Given the description of an element on the screen output the (x, y) to click on. 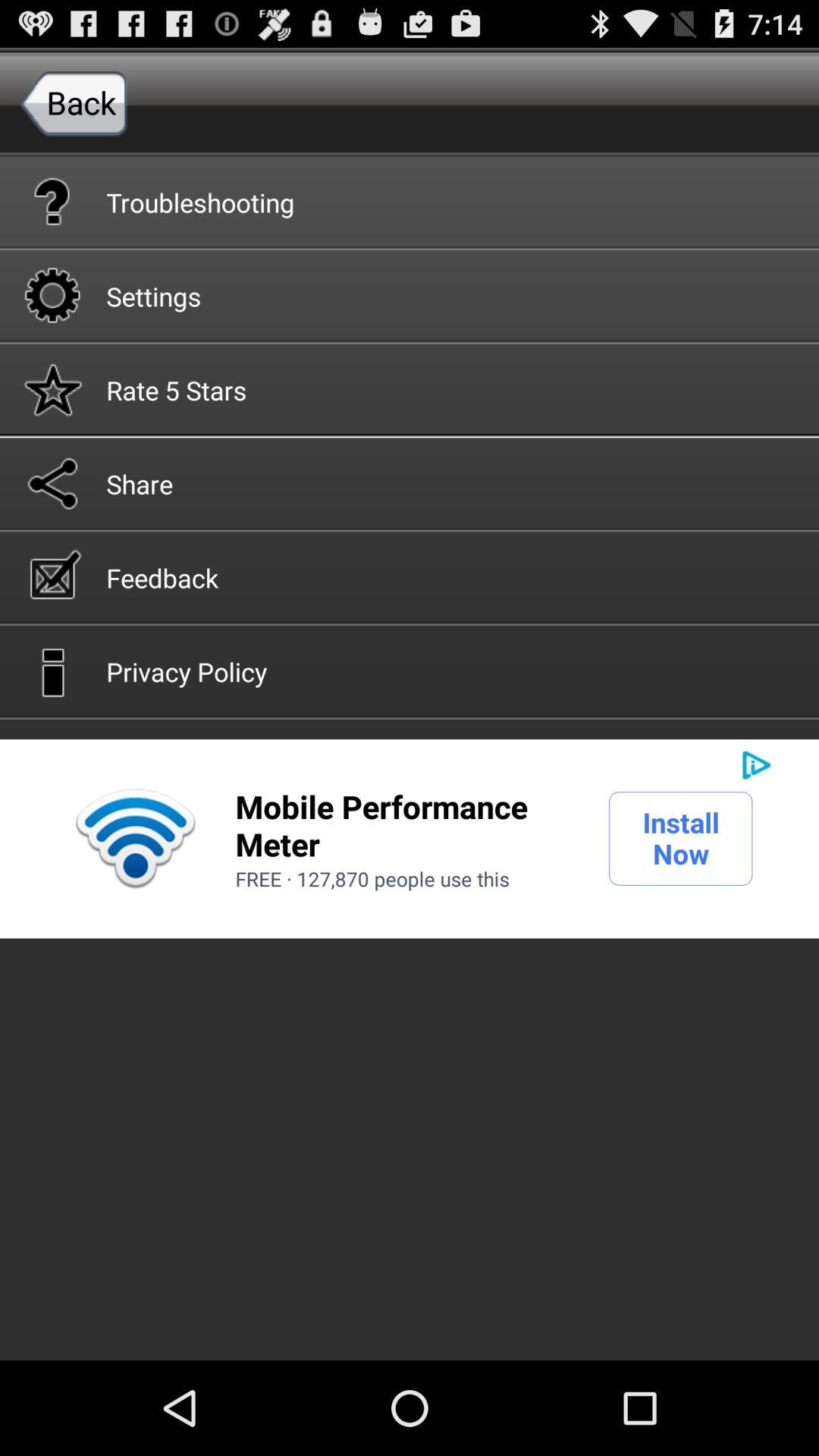
swipe until the back (73, 102)
